Given the description of an element on the screen output the (x, y) to click on. 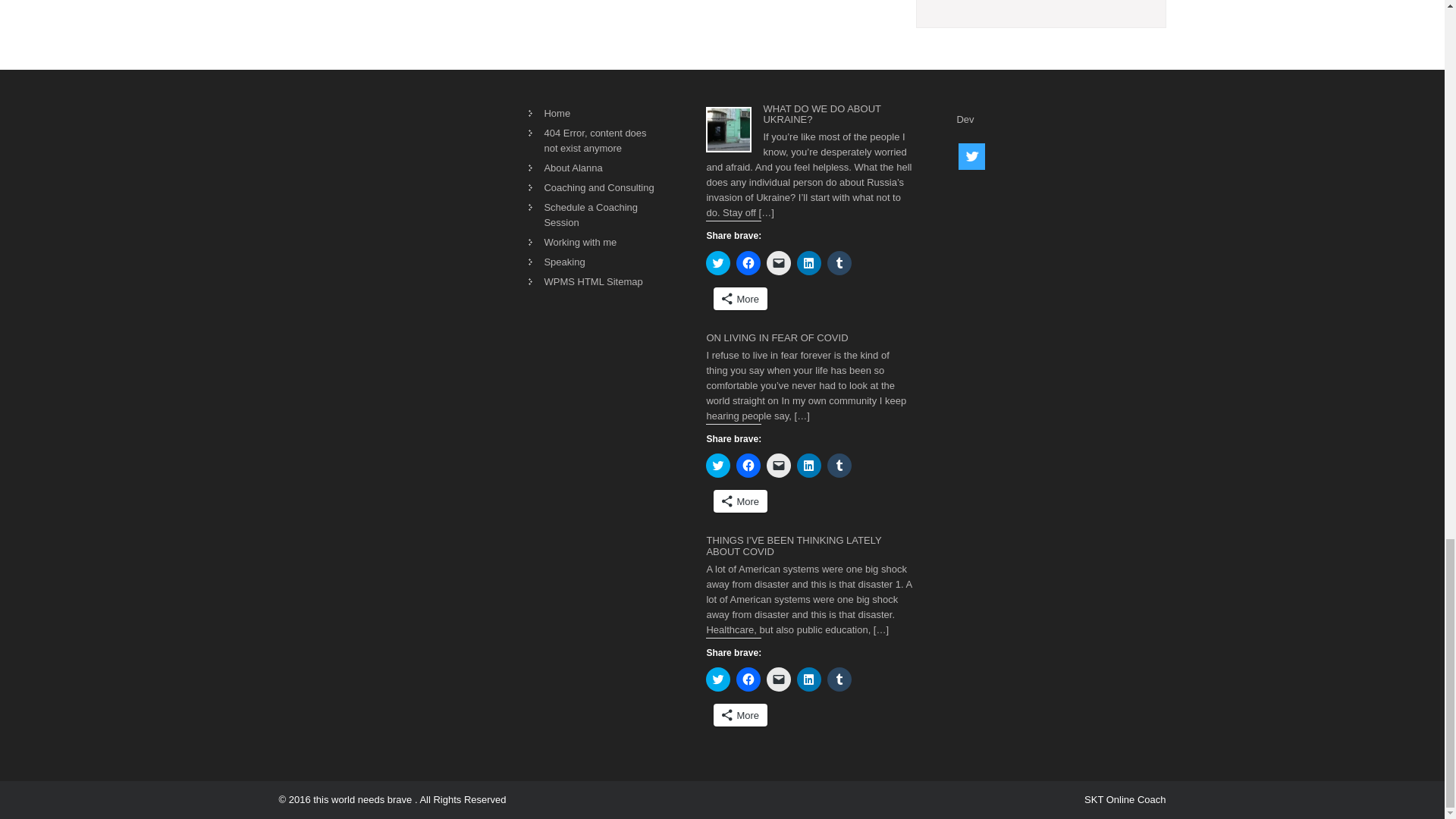
Click to share on Twitter (718, 262)
Click to share on Facebook (748, 262)
Click to share on LinkedIn (808, 262)
Click to email a link to a friend (778, 262)
Click to share on Tumblr (839, 262)
